Given the description of an element on the screen output the (x, y) to click on. 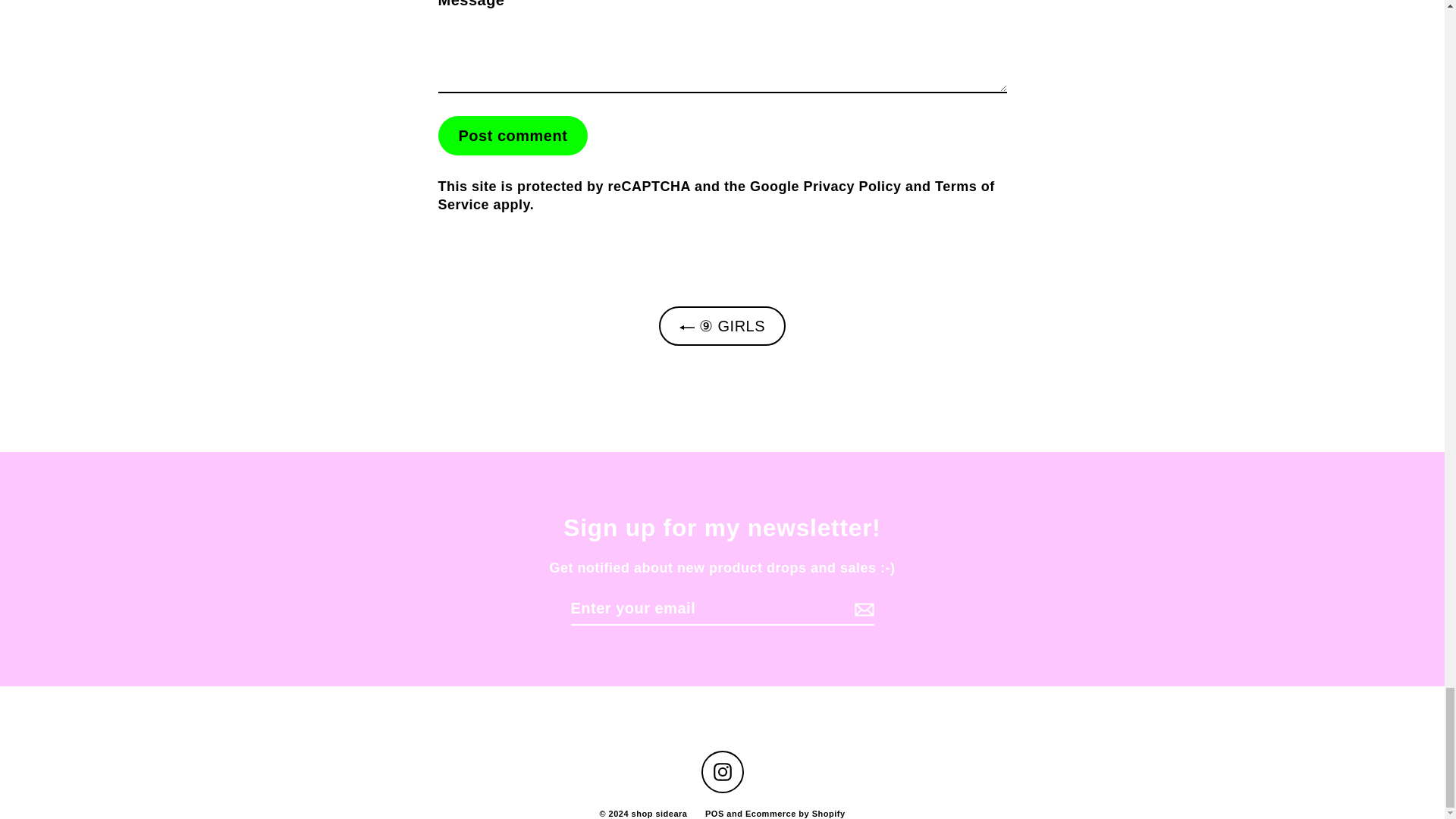
shop sideara on Instagram (721, 772)
Post comment (513, 135)
